Given the description of an element on the screen output the (x, y) to click on. 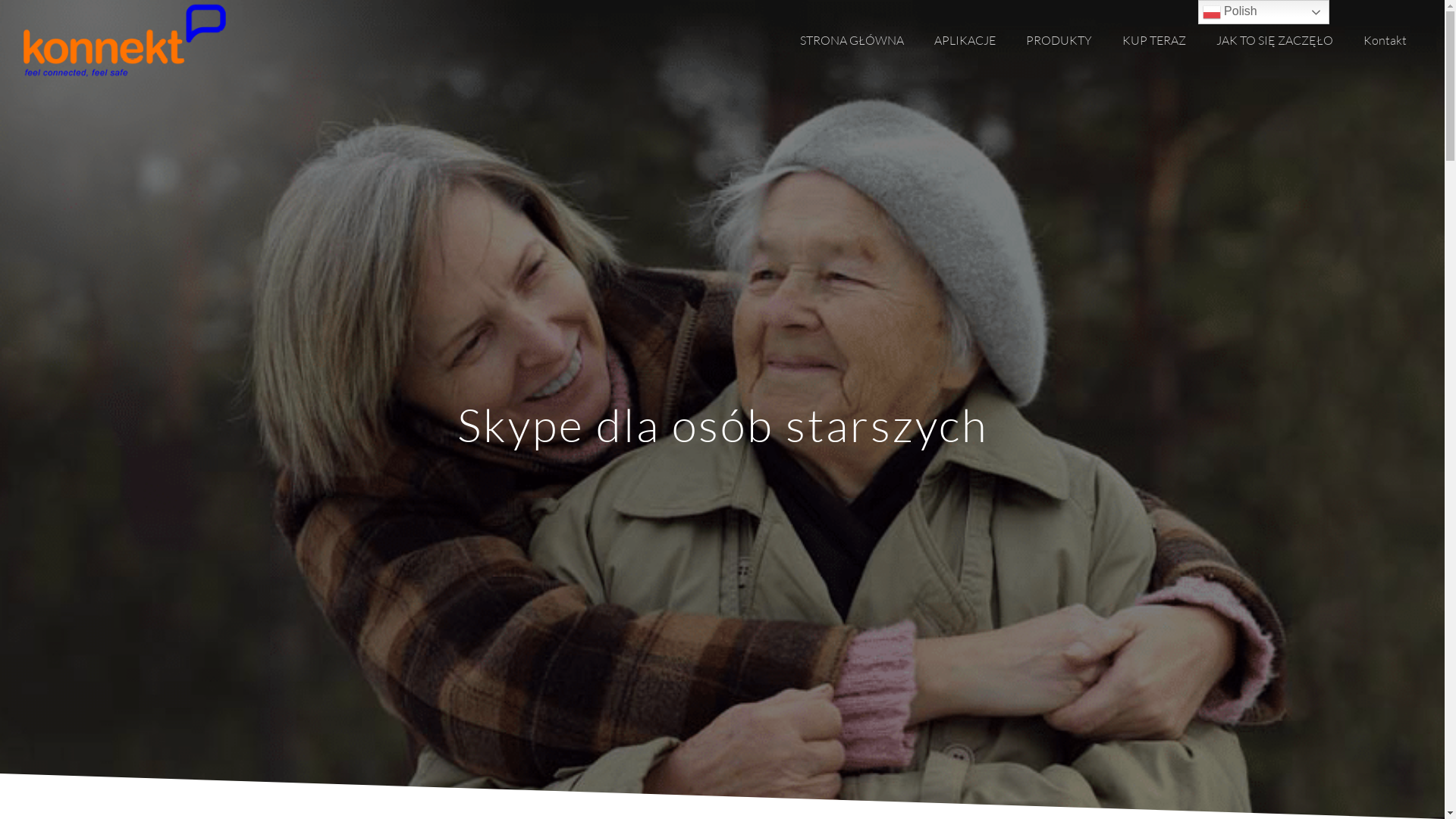
Polish Element type: text (1263, 12)
Kontakt Element type: text (1384, 40)
KUP TERAZ Element type: text (1154, 40)
APLIKACJE Element type: text (964, 40)
PRODUKTY Element type: text (1058, 40)
